Given the description of an element on the screen output the (x, y) to click on. 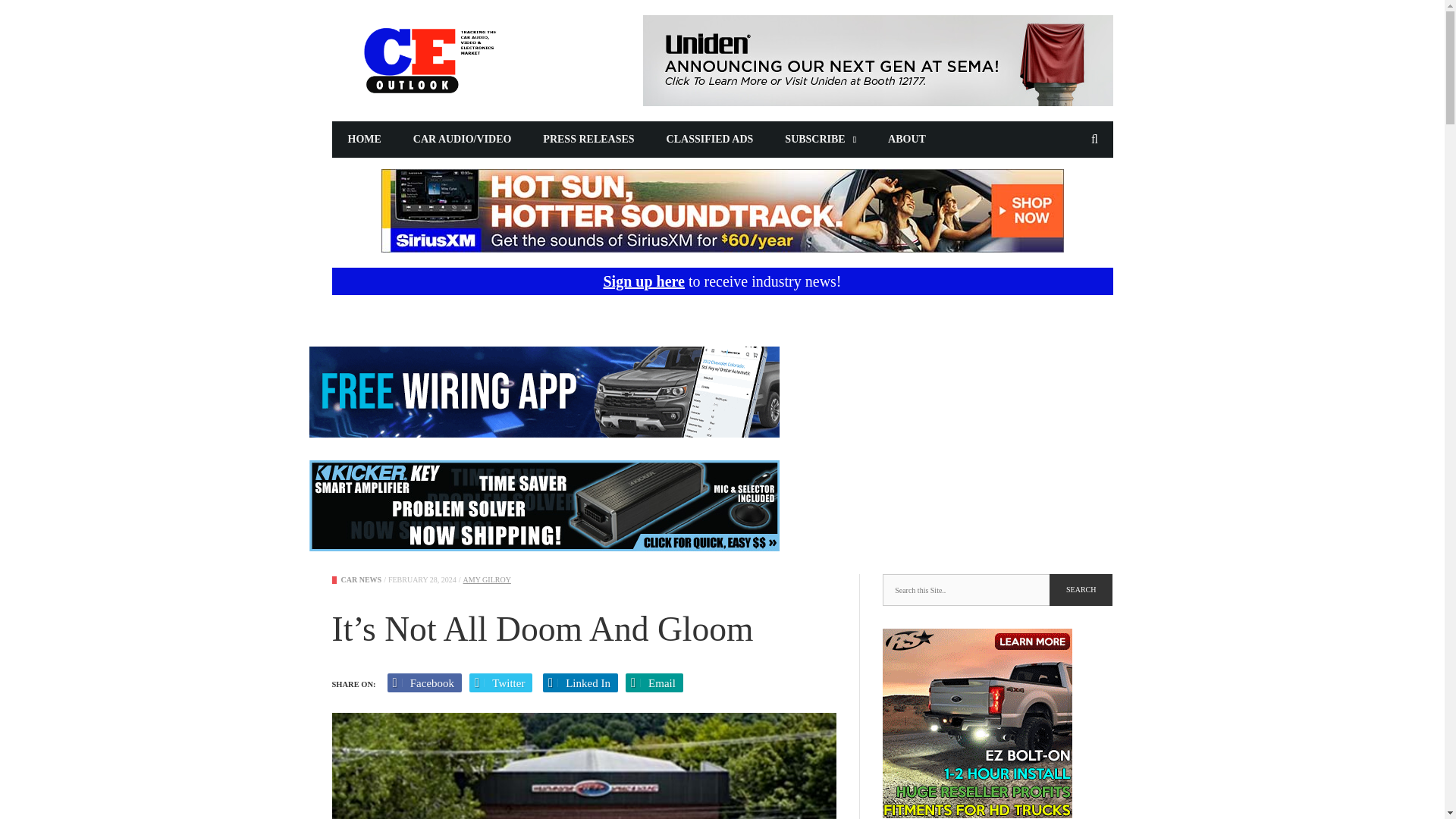
Linked In (580, 682)
AMY GILROY (487, 579)
CLASSIFIED ADS (710, 139)
CAR NEWS (360, 579)
Sign up here (643, 280)
ABOUT (907, 139)
Search (1080, 590)
HOME (364, 139)
Facebook (425, 682)
PRESS RELEASES (588, 139)
